Given the description of an element on the screen output the (x, y) to click on. 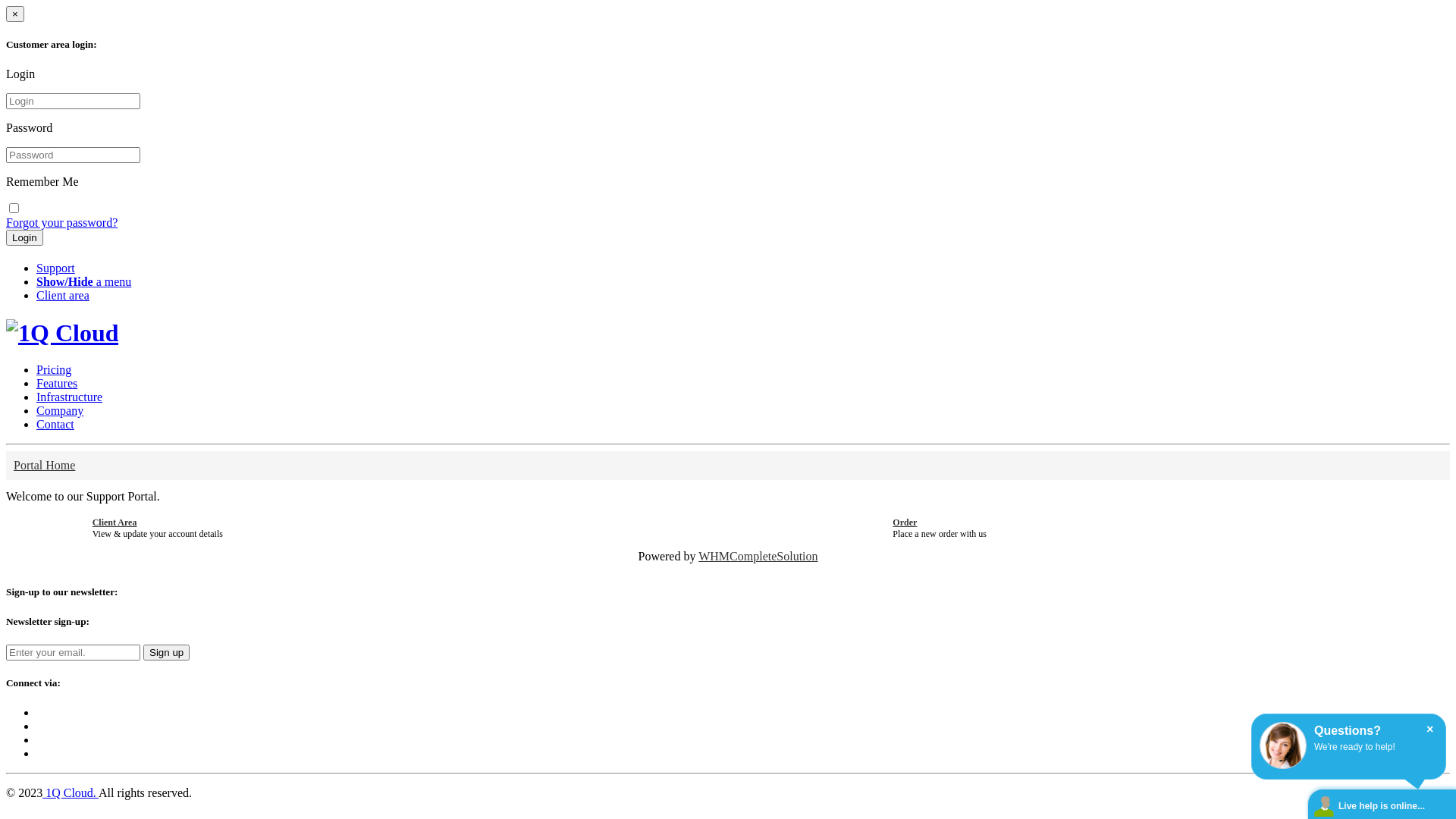
Show/Hide a menu Element type: text (83, 281)
Company Element type: text (59, 410)
Client area Element type: text (62, 294)
Forgot your password? Element type: text (61, 222)
Login Element type: text (24, 237)
1Q Cloud. Element type: text (70, 792)
Infrastructure Element type: text (69, 396)
Sign up Element type: text (166, 652)
Support Element type: text (55, 267)
Contact Element type: text (55, 423)
Pricing Element type: text (53, 369)
Client Area Element type: text (114, 522)
Portal Home Element type: text (44, 464)
Features Element type: text (56, 382)
Order Element type: text (904, 522)
WHMCompleteSolution Element type: text (757, 555)
